Given the description of an element on the screen output the (x, y) to click on. 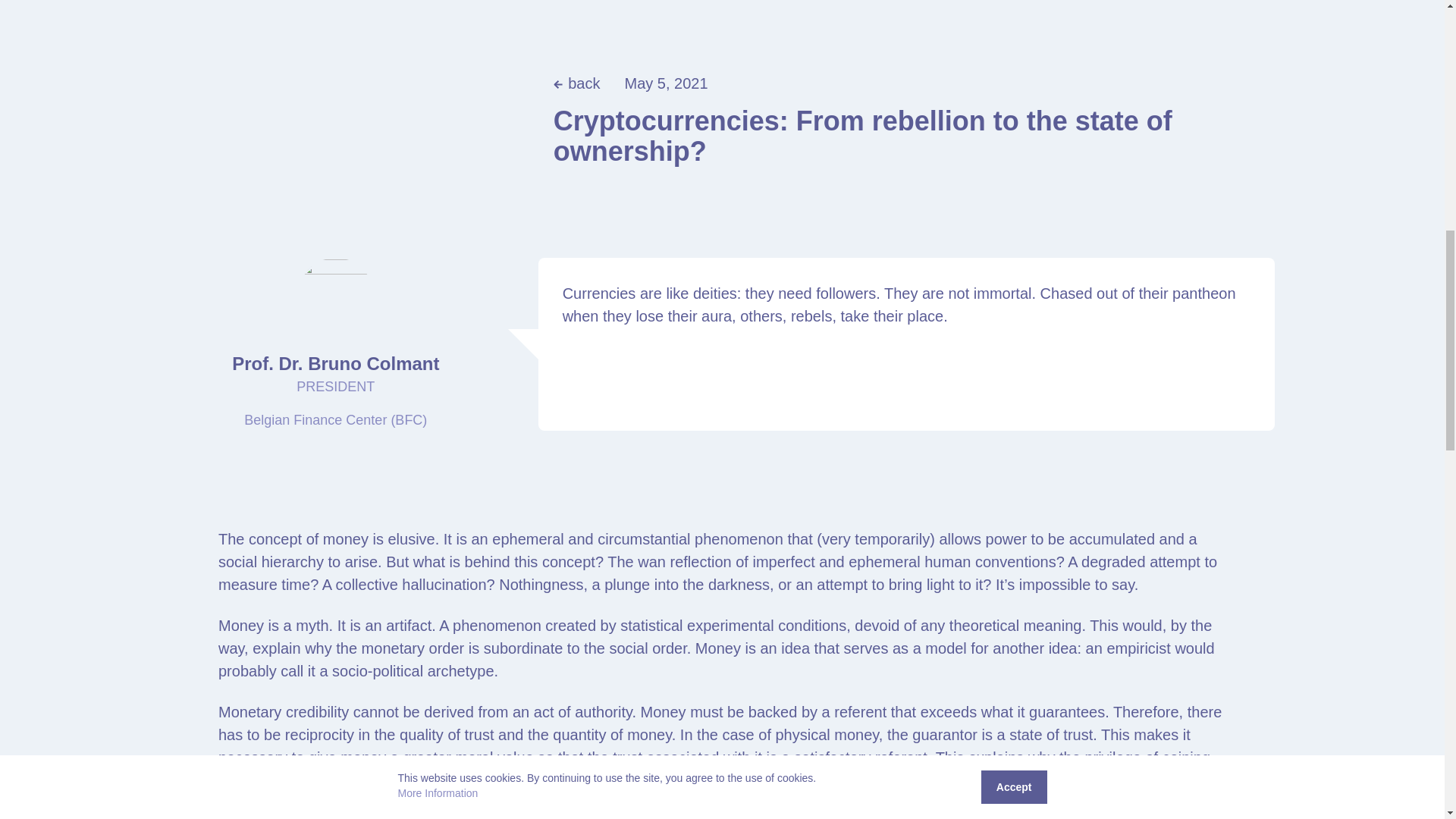
back (576, 83)
